Given the description of an element on the screen output the (x, y) to click on. 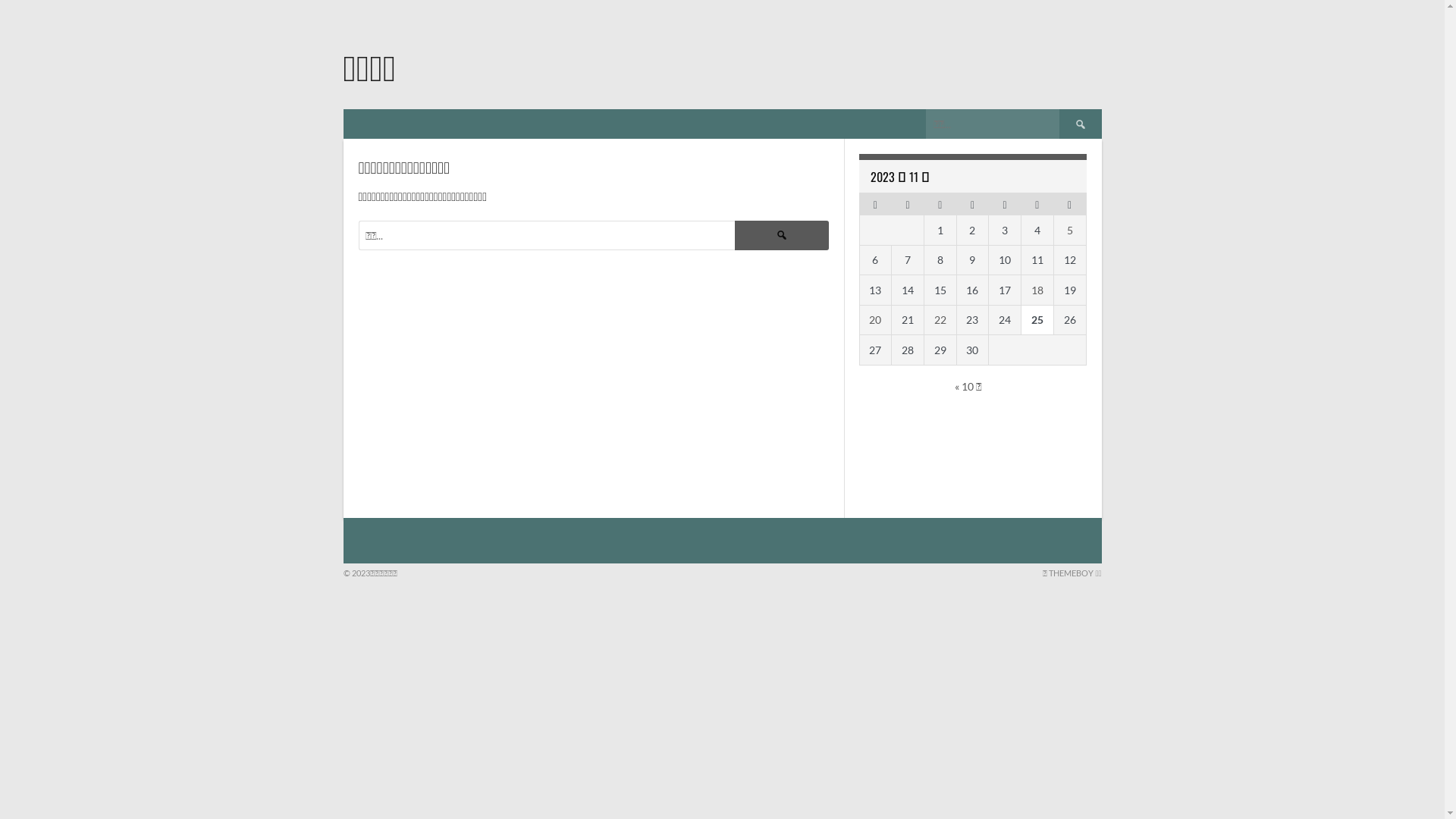
22 Element type: text (940, 319)
18 Element type: text (1037, 289)
20 Element type: text (875, 319)
5 Element type: text (1069, 229)
